Given the description of an element on the screen output the (x, y) to click on. 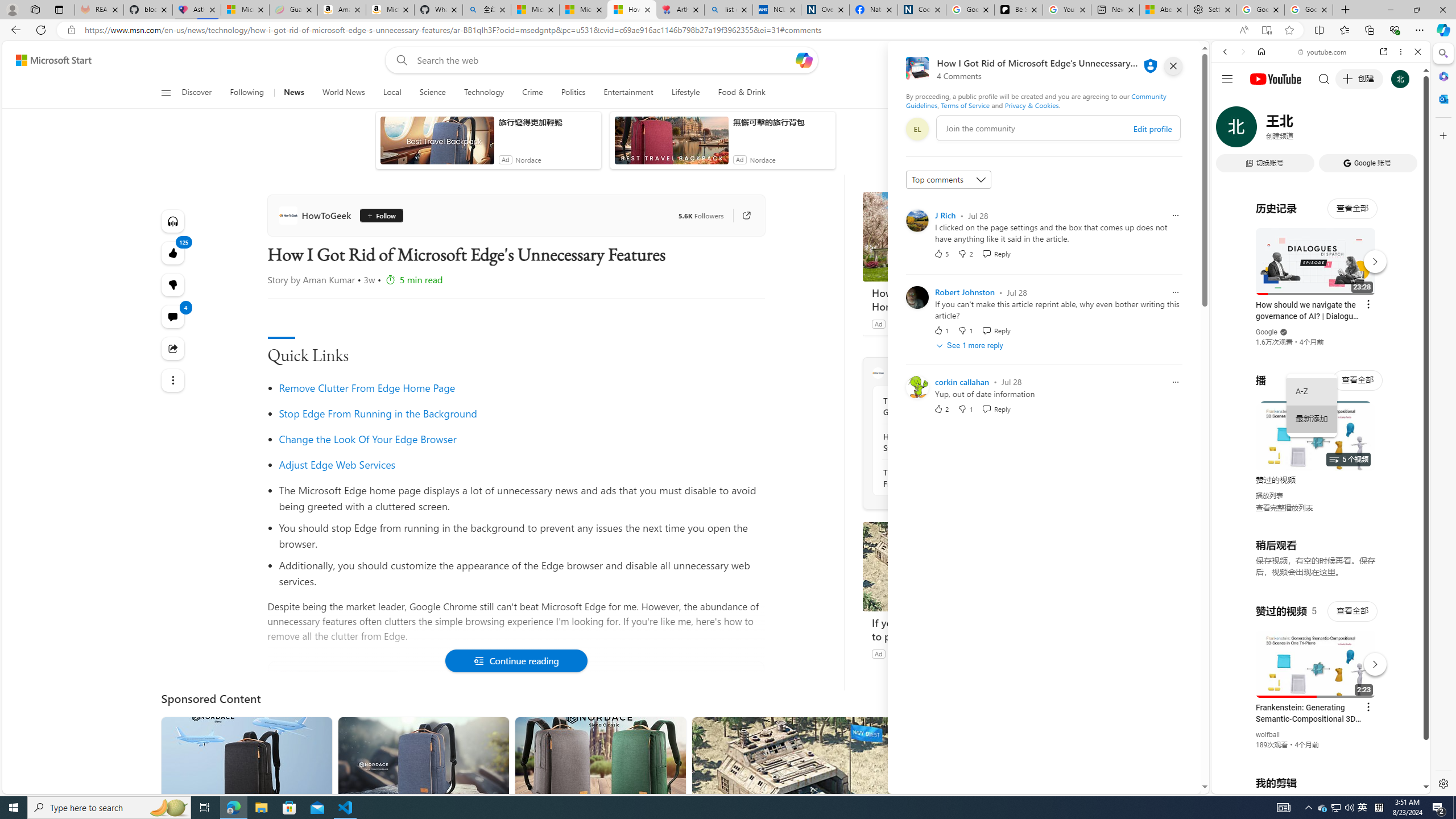
These Are the Best Sites for DRM-Free eBooks and Comics (944, 477)
wolfball (1268, 734)
Google (1266, 331)
youtube.com (1322, 51)
Terms of Service (965, 104)
Stop Edge From Running in the Background (377, 413)
